Given the description of an element on the screen output the (x, y) to click on. 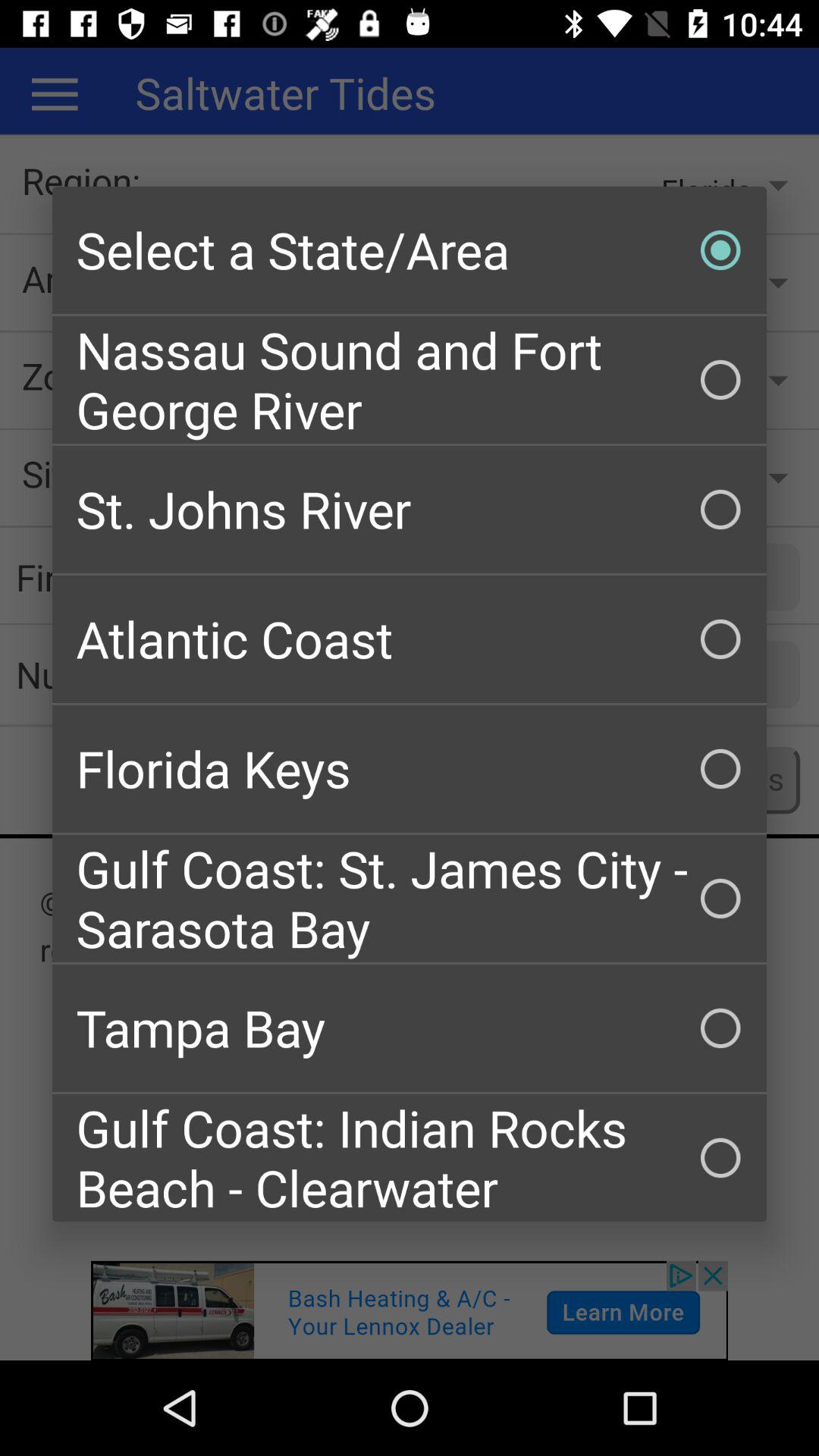
press the icon below st. johns river icon (409, 638)
